Given the description of an element on the screen output the (x, y) to click on. 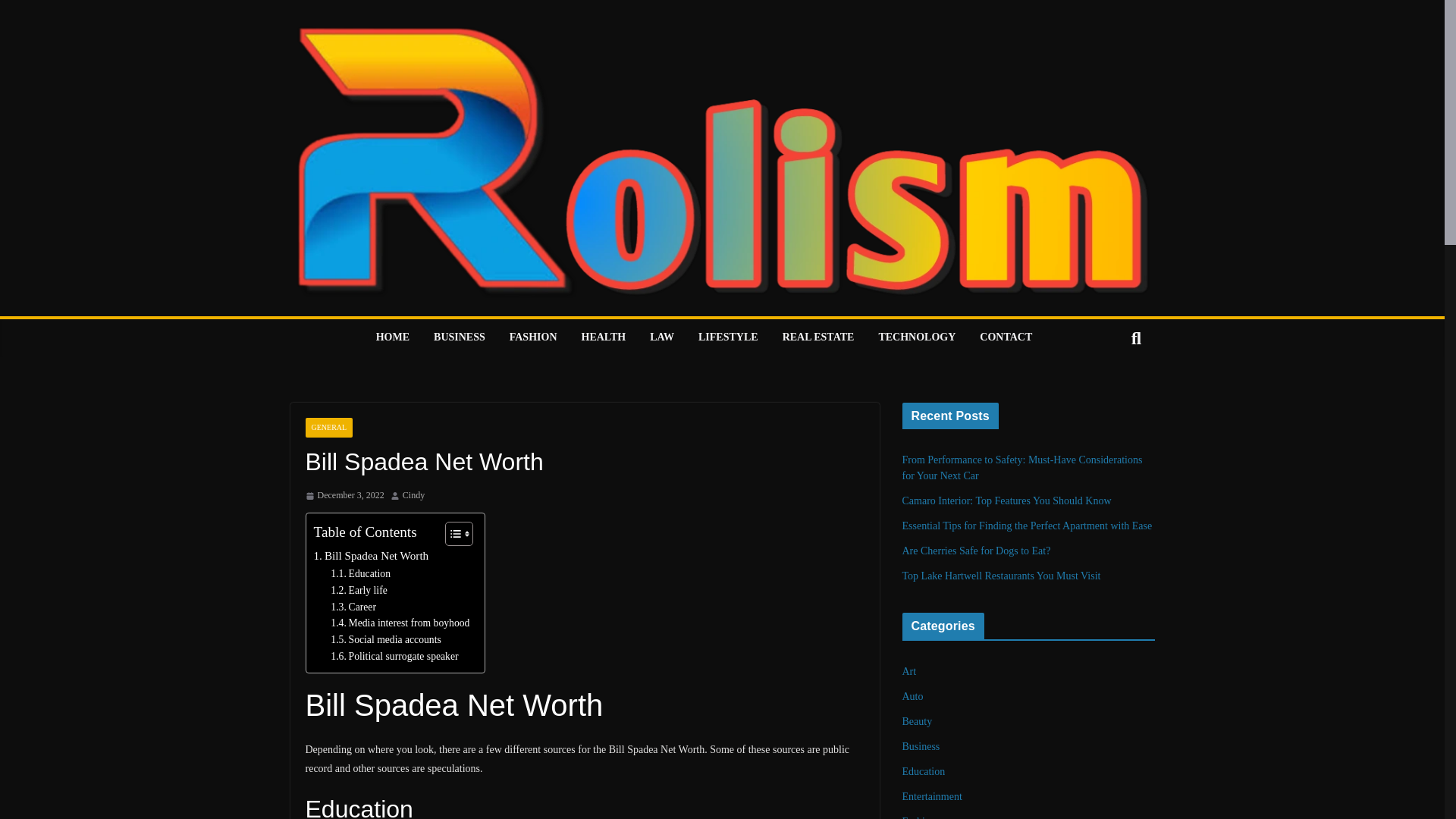
Top Lake Hartwell Restaurants You Must Visit (1001, 575)
Auto (912, 696)
Career (352, 606)
Media interest from boyhood (399, 623)
Cindy (414, 495)
Are Cherries Safe for Dogs to Eat? (976, 550)
Art (909, 671)
Entertainment (932, 796)
REAL ESTATE (818, 337)
TECHNOLOGY (916, 337)
